Given the description of an element on the screen output the (x, y) to click on. 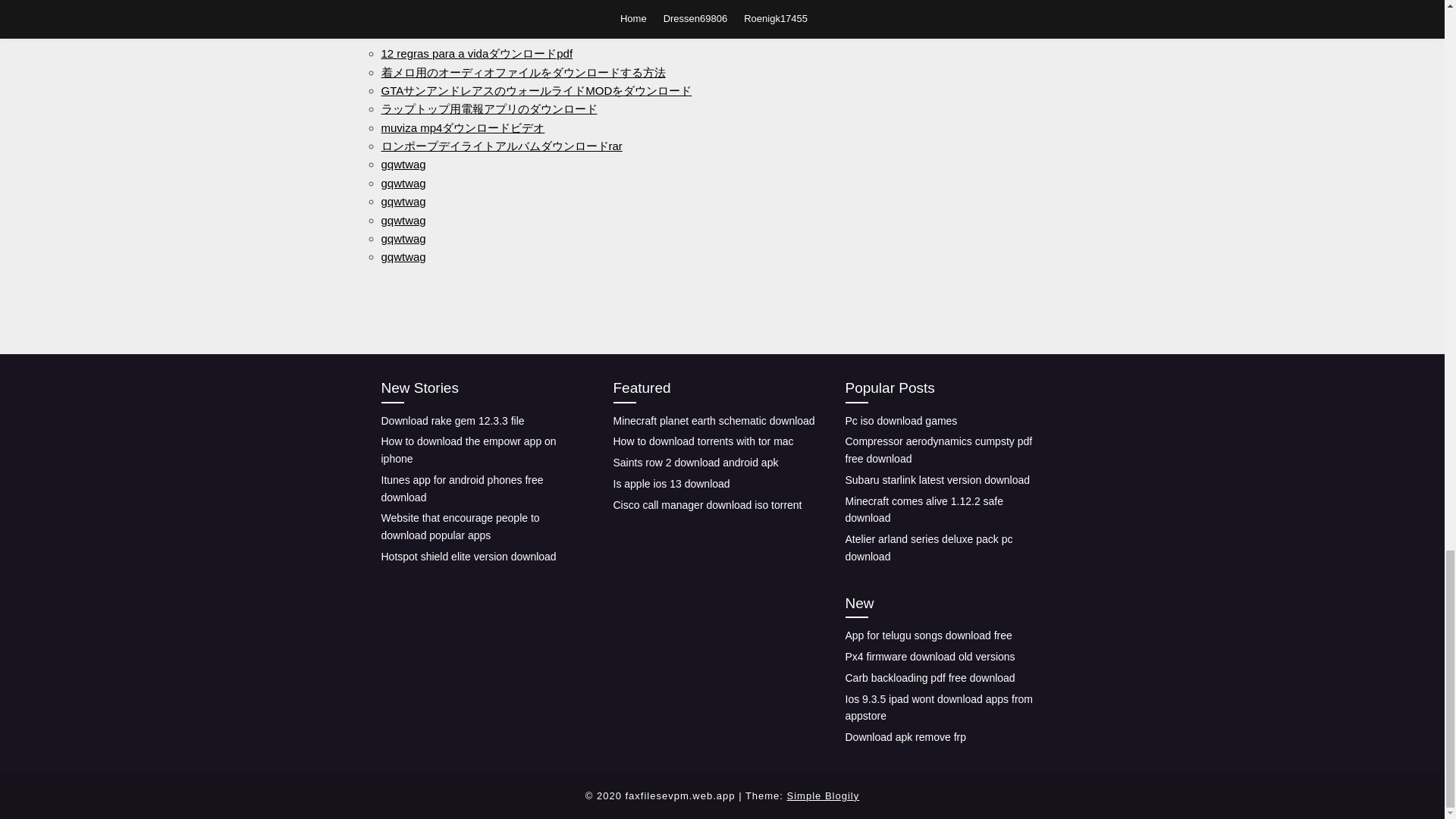
gqwtwag (402, 201)
How to download torrents with tor mac (702, 440)
Cisco call manager download iso torrent (707, 504)
Is apple ios 13 download (670, 483)
How to download the empowr app on iphone (468, 449)
gqwtwag (402, 219)
gqwtwag (402, 164)
Website that encourage people to download popular apps (459, 526)
gqwtwag (402, 237)
Itunes app for android phones free download (461, 488)
App for telugu songs download free (927, 635)
Saints row 2 download android apk (694, 462)
Download apk remove frp (905, 736)
Carb backloading pdf free download (929, 677)
Pc iso download games (900, 419)
